Given the description of an element on the screen output the (x, y) to click on. 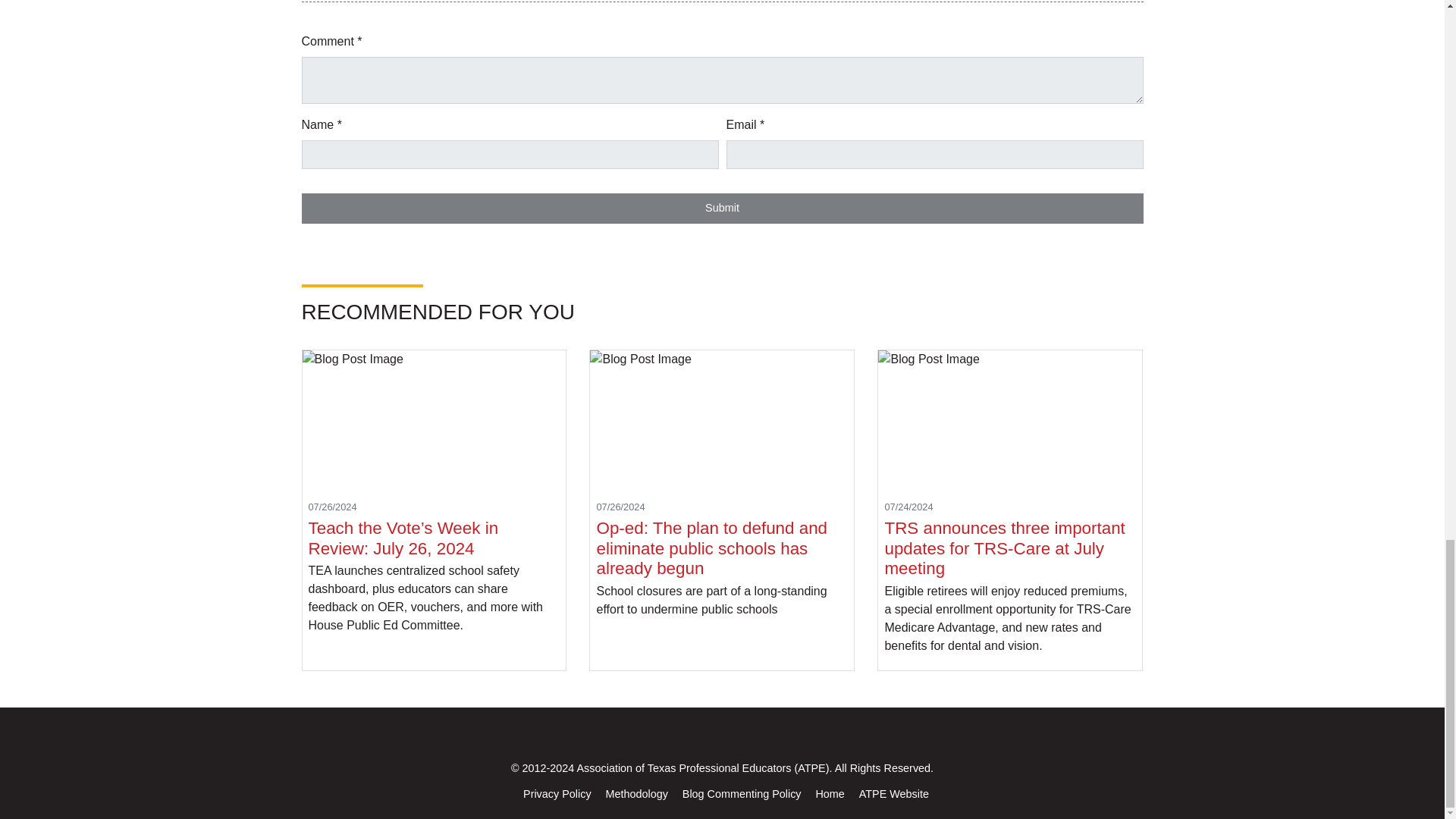
Submit (721, 208)
